Given the description of an element on the screen output the (x, y) to click on. 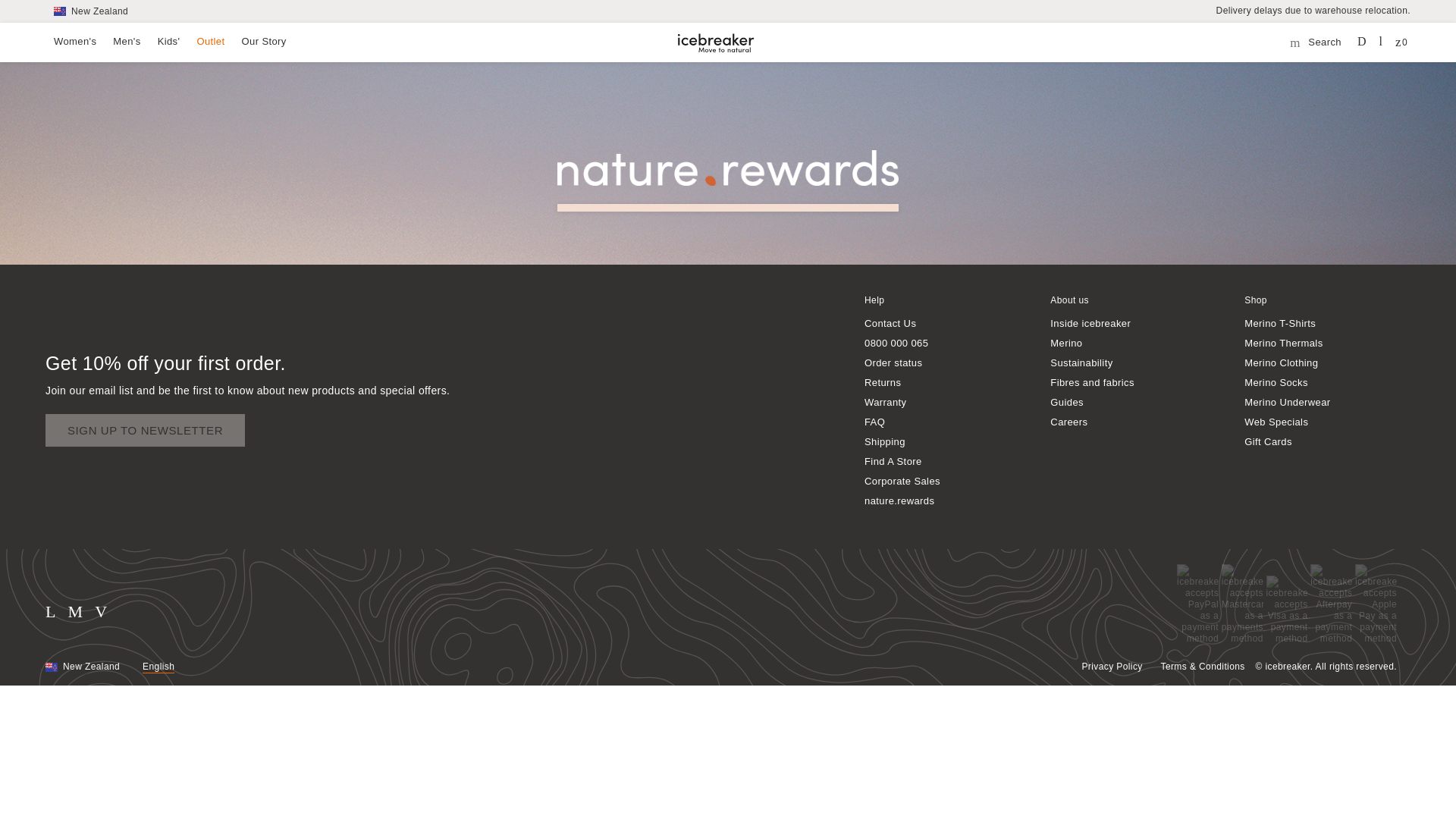
New Zealand (90, 11)
New Zealand (90, 11)
Women's (74, 41)
Women's (74, 41)
Delivery delays due to warehouse relocation. (1312, 9)
